Given the description of an element on the screen output the (x, y) to click on. 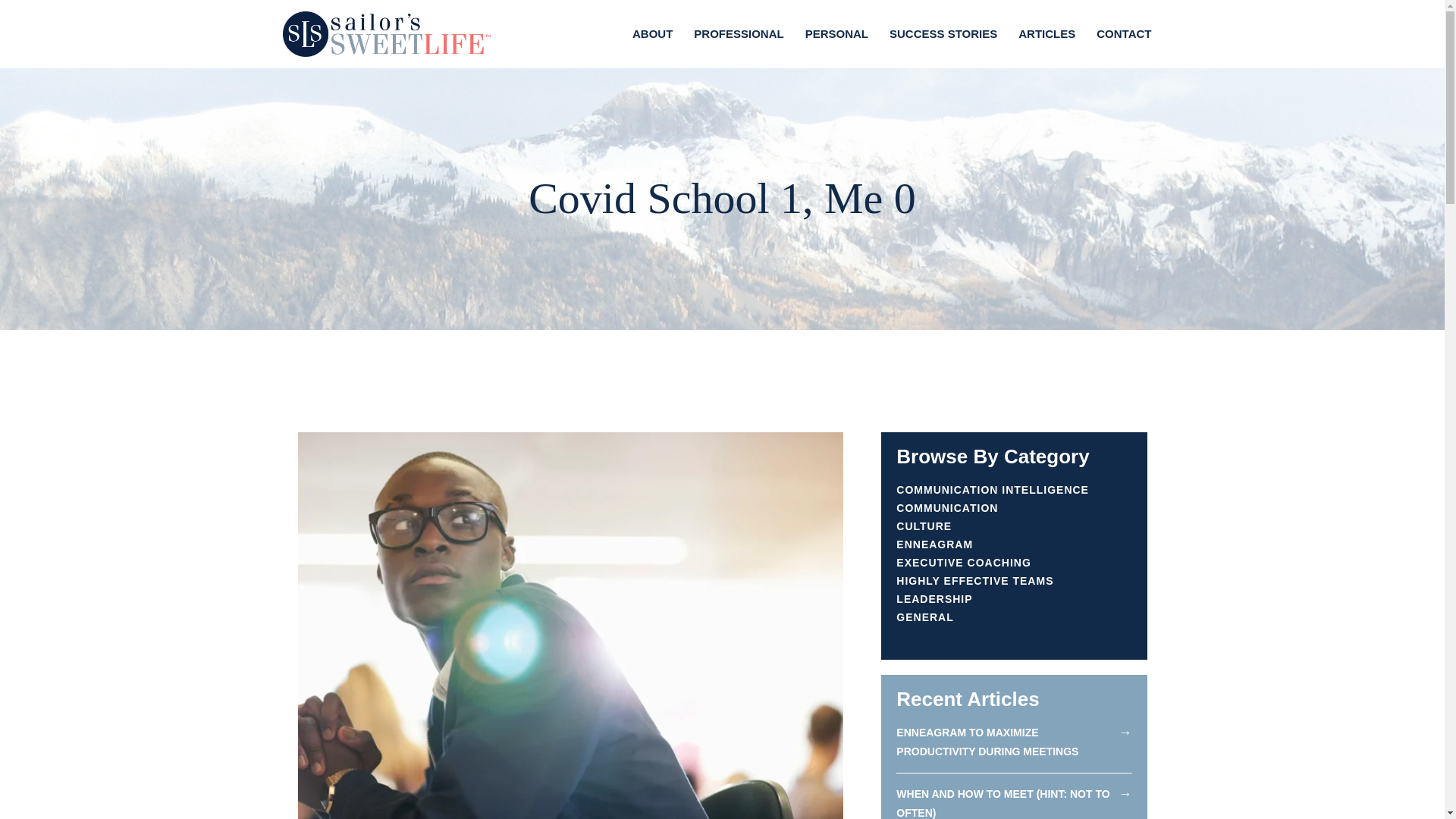
ENNEAGRAM (934, 544)
PERSONAL (836, 33)
COMMUNICATION INTELLIGENCE (992, 490)
GENERAL (924, 616)
ABOUT (651, 33)
CULTURE (924, 526)
LEADERSHIP (934, 598)
HIGHLY EFFECTIVE TEAMS (974, 580)
ARTICLES (1046, 33)
CONTACT (1123, 33)
SUCCESS STORIES (943, 33)
COMMUNICATION (946, 508)
ENNEAGRAM TO MAXIMIZE PRODUCTIVITY DURING MEETINGS (987, 741)
EXECUTIVE COACHING (963, 562)
PROFESSIONAL (737, 33)
